Given the description of an element on the screen output the (x, y) to click on. 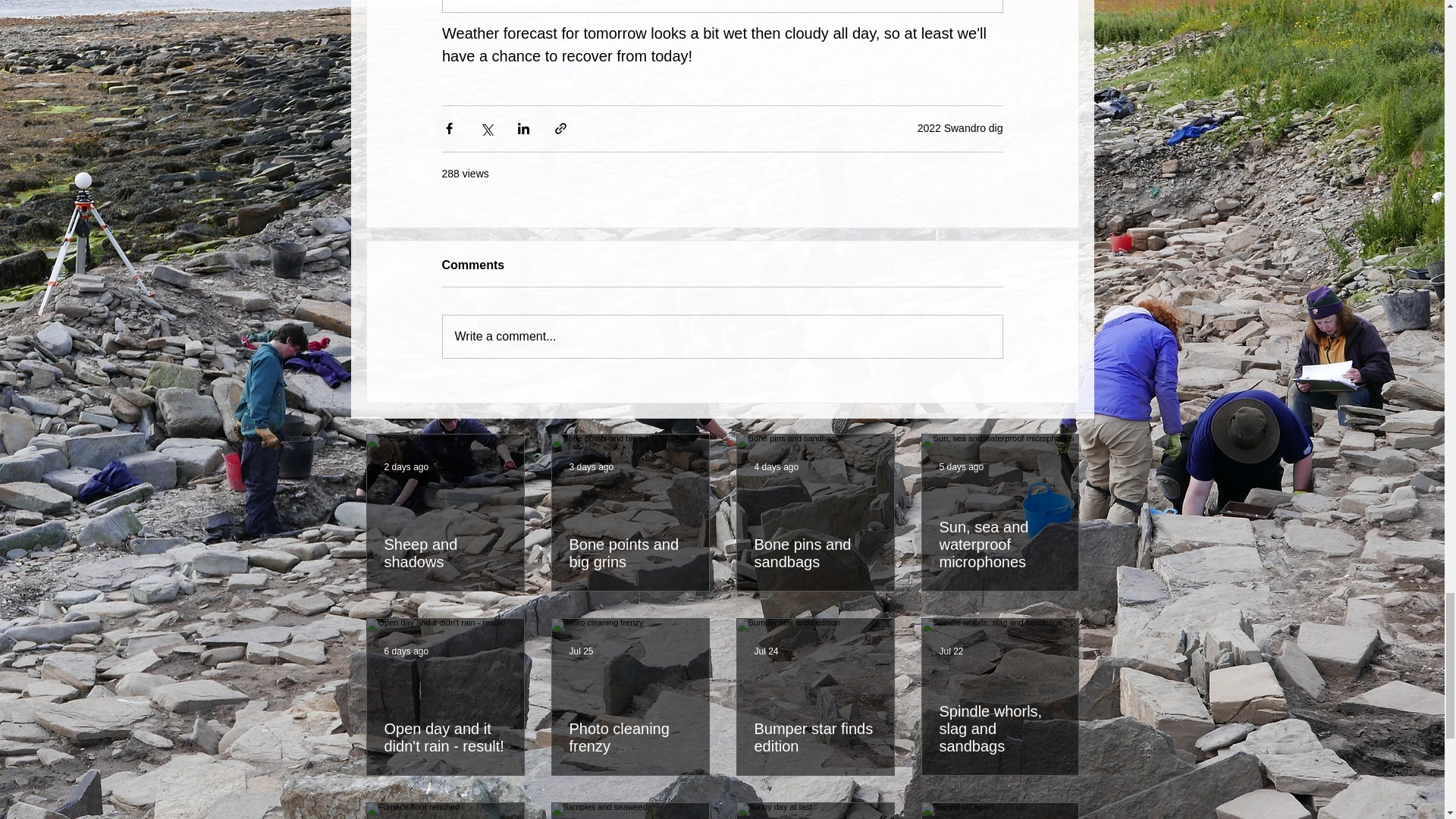
Photo cleaning frenzy (629, 737)
2022 Swandro dig (960, 128)
Jul 22 (950, 651)
Open day and it didn't rain - result! (444, 737)
Bone pins and sandbags (815, 552)
Jul 25 (580, 651)
6 days ago (406, 651)
Sheep and shadows (444, 552)
Sun, sea and waterproof microphones (999, 543)
Bumper star finds edition (815, 737)
Jul 24 (765, 651)
Spindle whorls, slag and sandbags (999, 728)
5 days ago (961, 466)
3 days ago (590, 466)
2 days ago (406, 466)
